Given the description of an element on the screen output the (x, y) to click on. 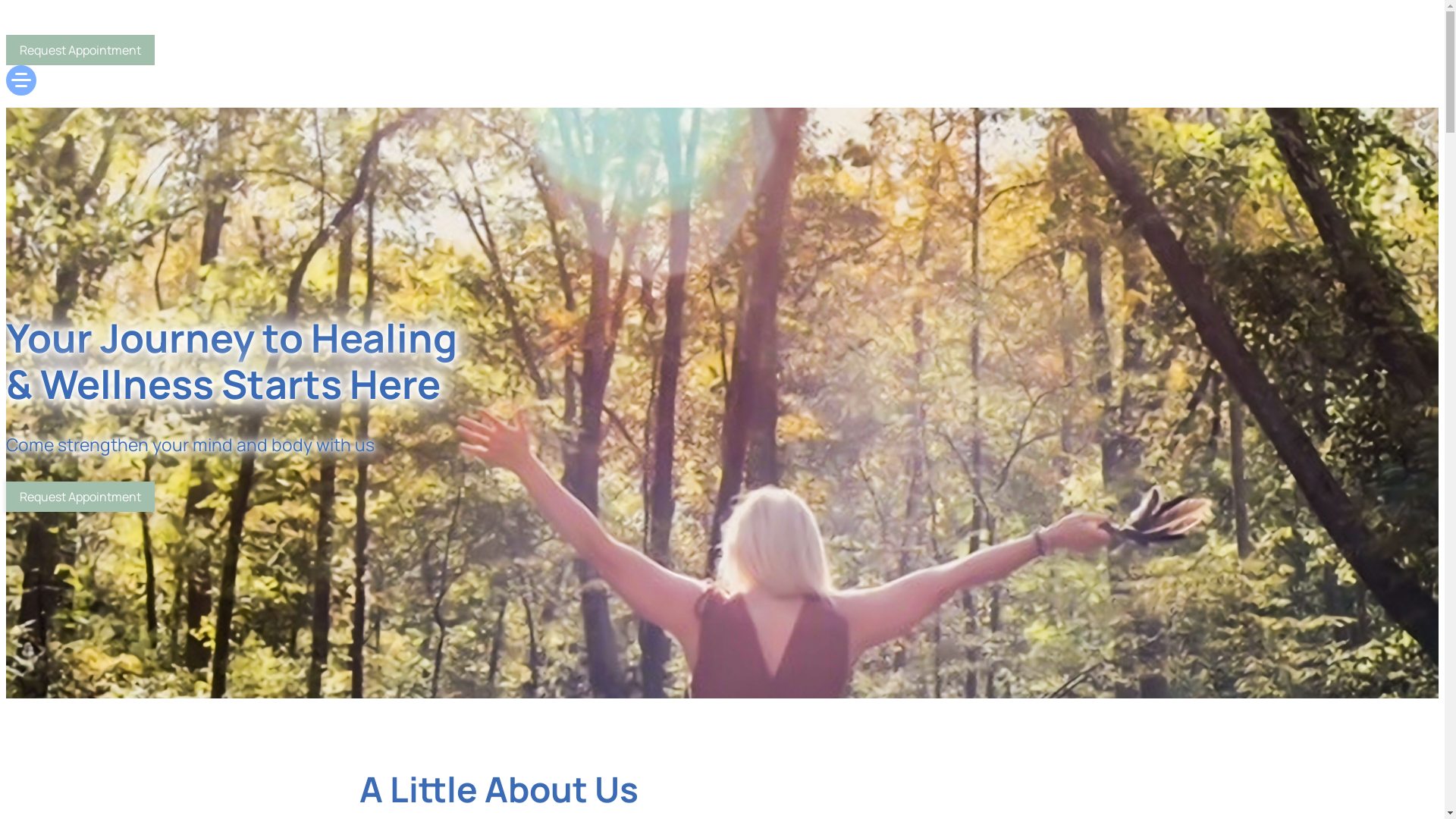
Request Appointment Element type: text (80, 496)
Request Appointment Element type: text (80, 49)
